Given the description of an element on the screen output the (x, y) to click on. 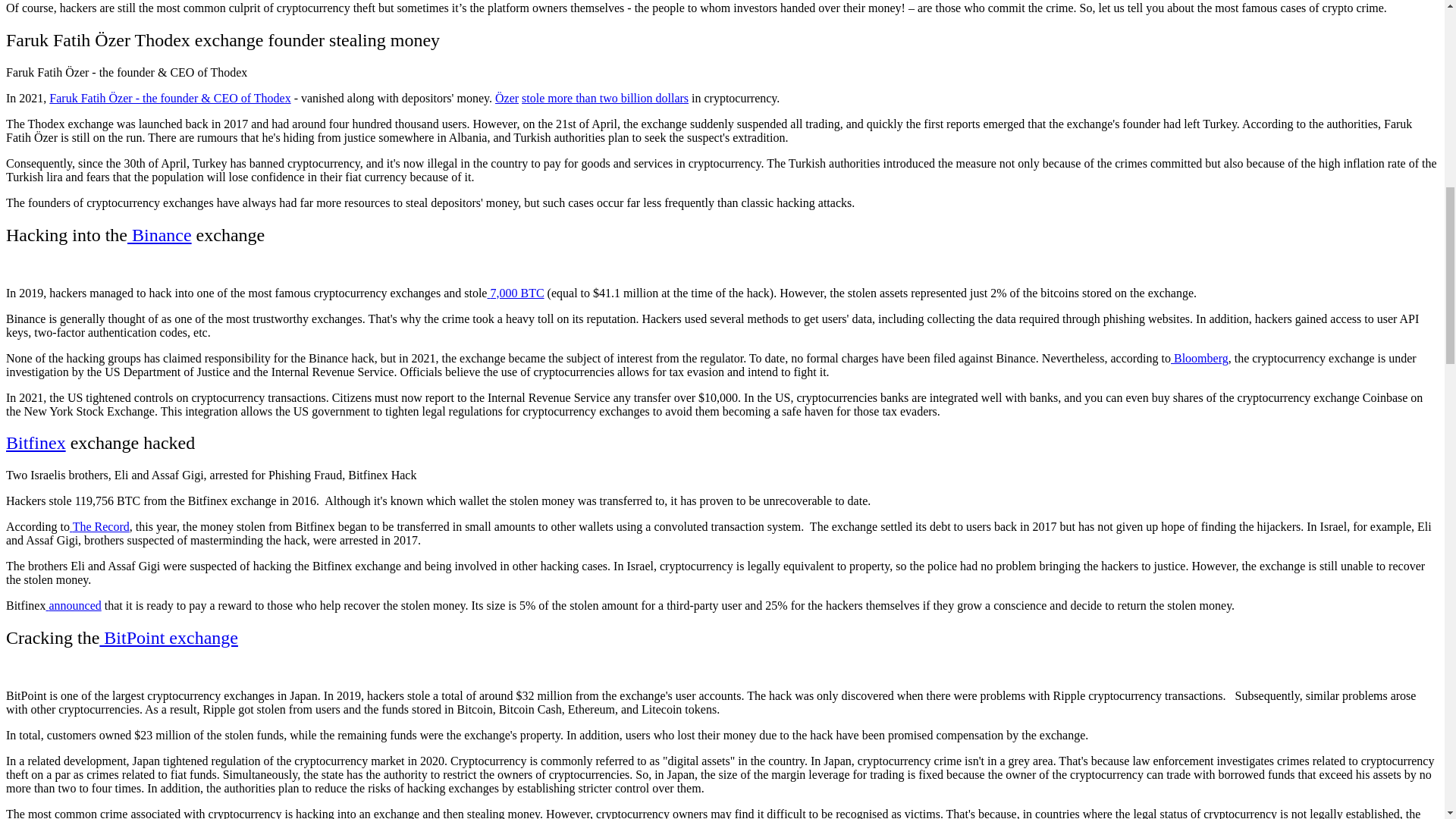
7,000 BTC (514, 292)
announced (72, 604)
The Record (99, 526)
Binance (160, 234)
Bitfinex (35, 442)
Bloomberg (1199, 358)
stole more than two billion dollars (604, 97)
